Given the description of an element on the screen output the (x, y) to click on. 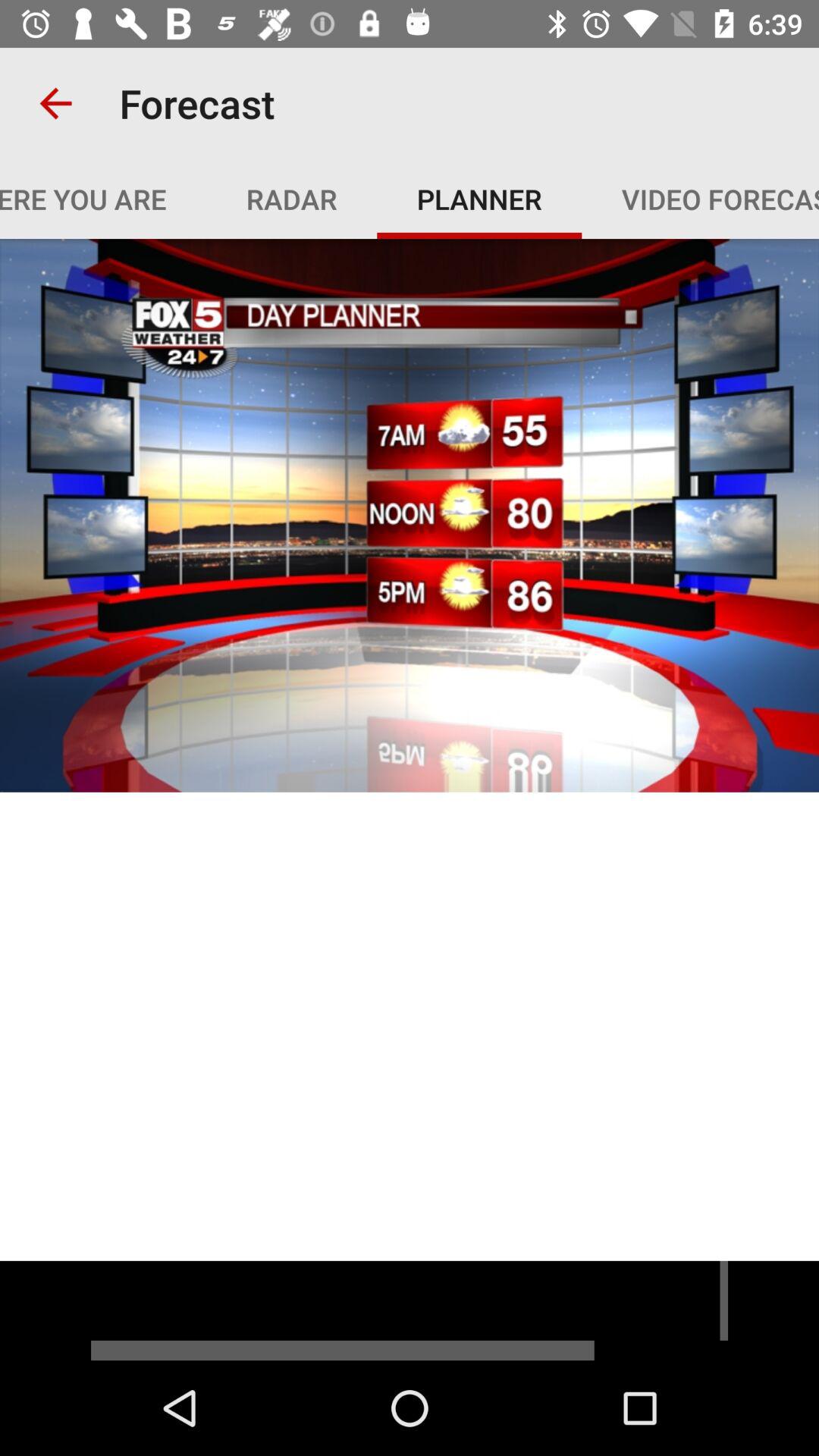
advertisement (409, 1310)
